Given the description of an element on the screen output the (x, y) to click on. 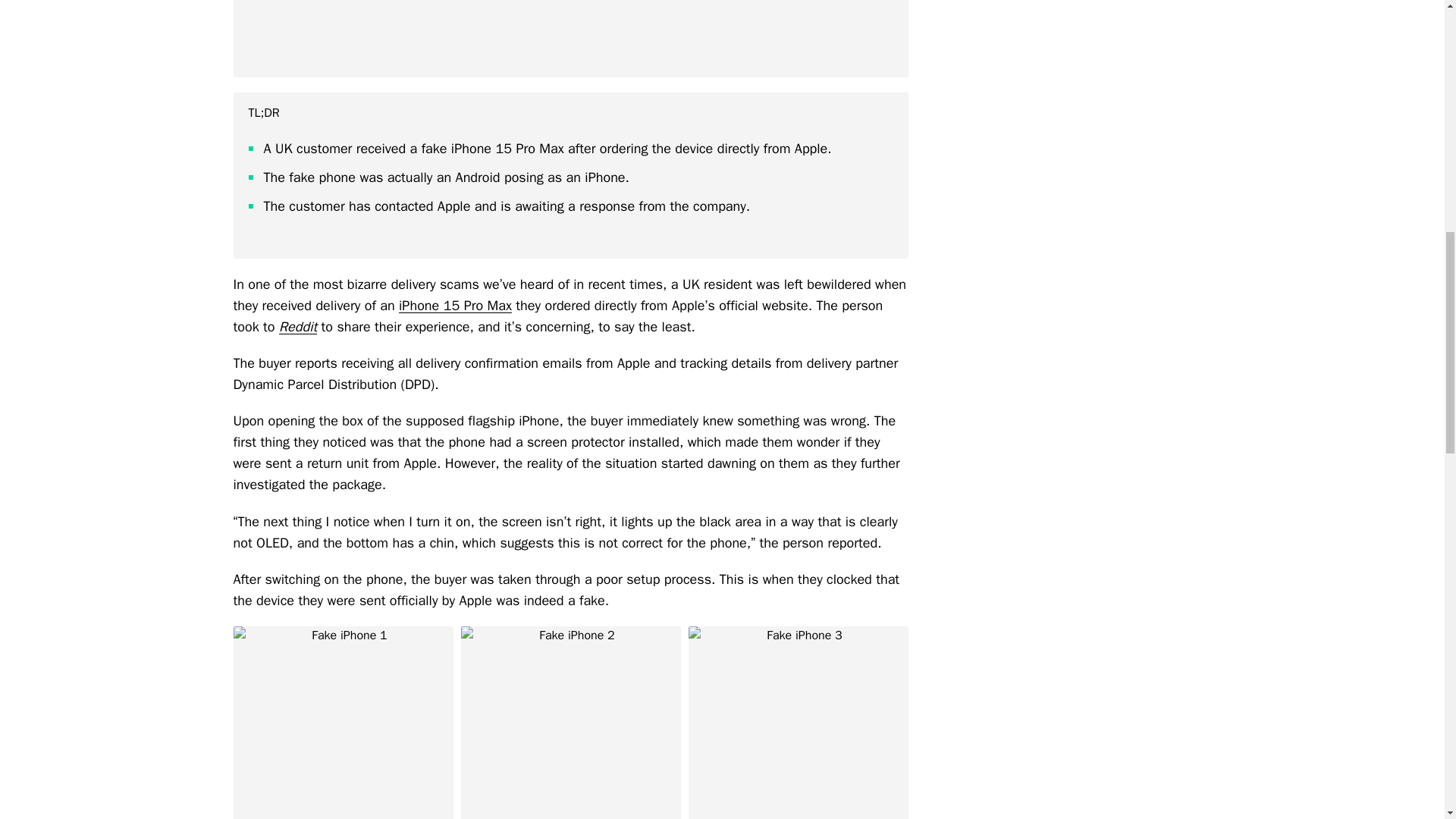
Fake iPhone 2 (571, 722)
iPhone 15 Pro Max (455, 305)
Fake iPhone 1 (342, 722)
Reddit (298, 326)
Apple iPhone 15 Pro Max Titanium Black (570, 38)
Fake iPhone 3 (798, 722)
